Given the description of an element on the screen output the (x, y) to click on. 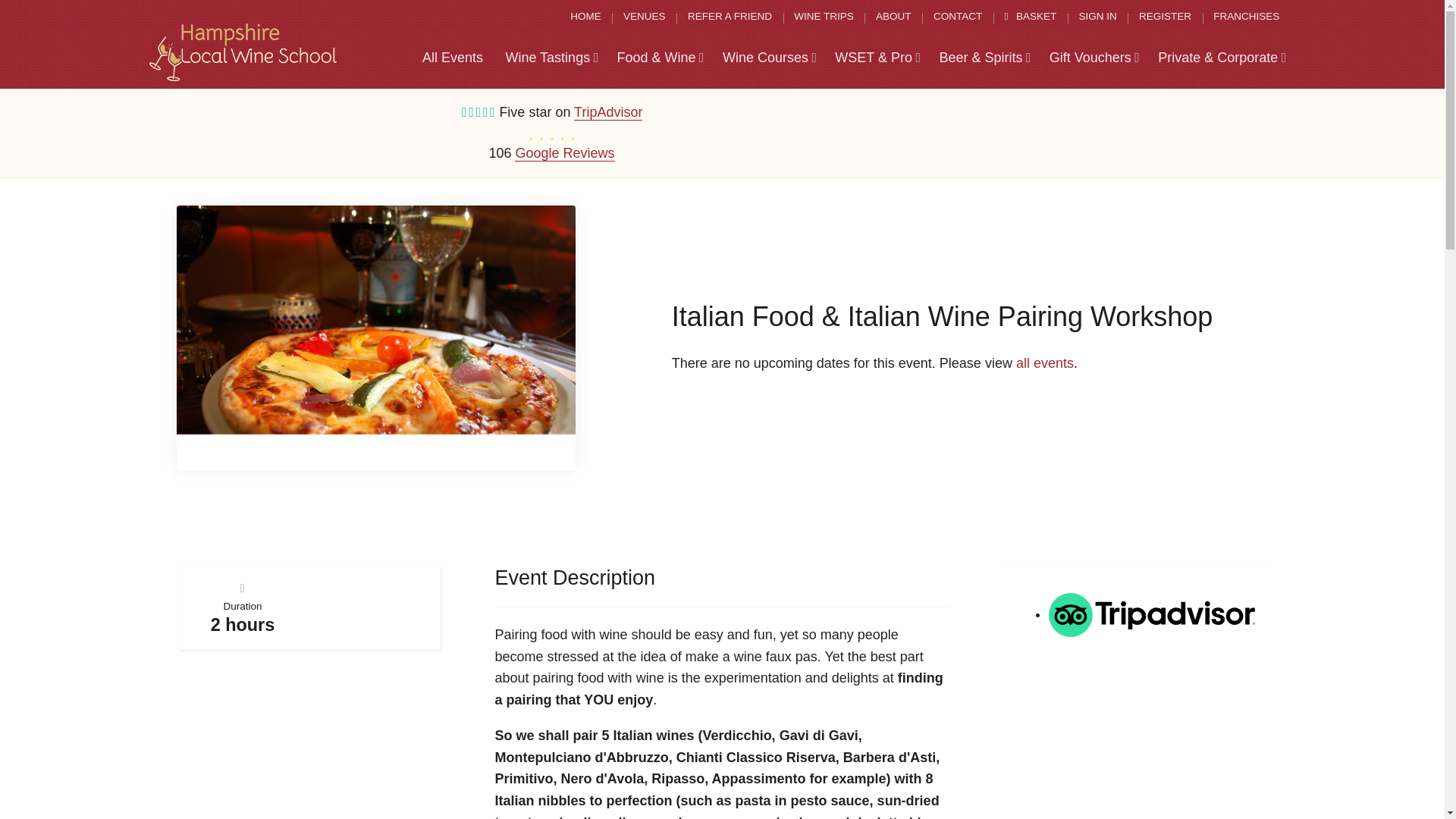
SIGN IN (1096, 17)
VENUES (644, 17)
REFER A FRIEND (729, 17)
ABOUT (893, 17)
Wine Courses (769, 58)
FRANCHISES (1246, 17)
BASKET (1029, 17)
CONTACT (957, 17)
Wine Tastings (551, 58)
REGISTER (1164, 17)
